Given the description of an element on the screen output the (x, y) to click on. 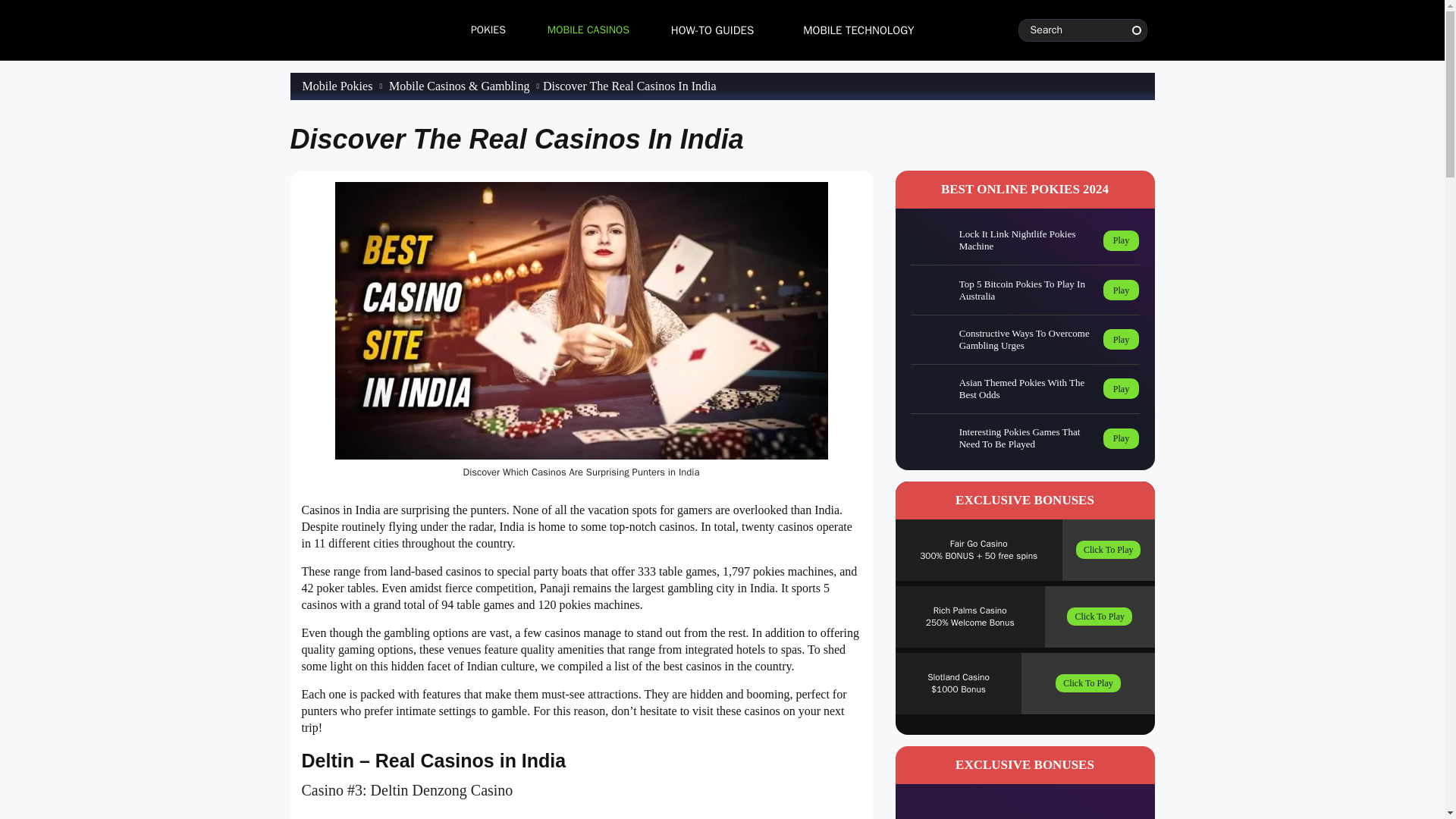
MOBILE TECHNOLOGY (857, 30)
Mobile Pokies (336, 86)
POKIES (484, 30)
MOBILE CASINOS (584, 30)
Play (1120, 240)
Go to Mobile Pokies. (336, 86)
HOW-TO GUIDES (712, 30)
Lock It Link Nightlife Pokies Machine (1024, 240)
